Given the description of an element on the screen output the (x, y) to click on. 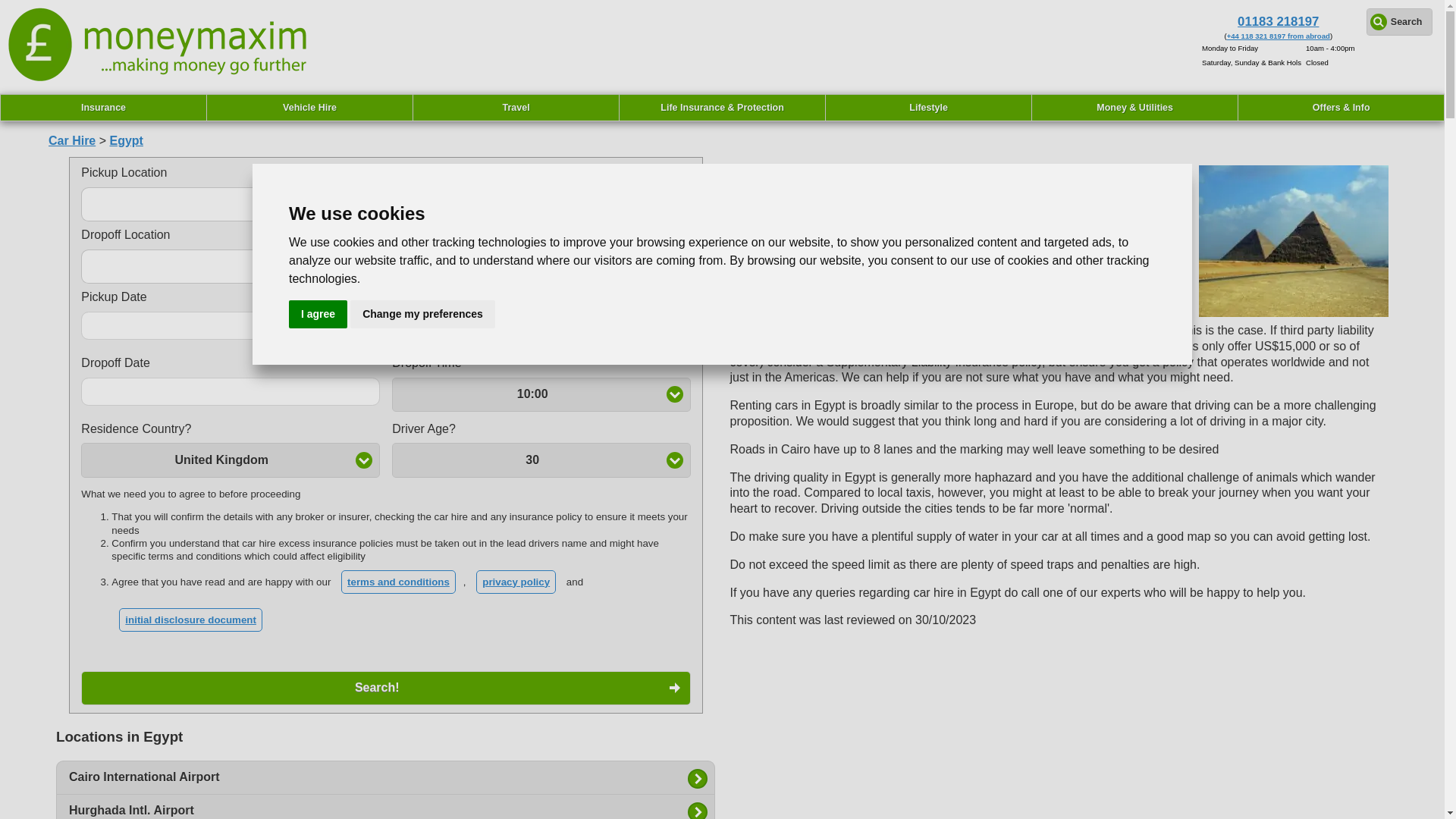
I agree (317, 314)
Change my preferences (422, 314)
Search! (385, 687)
